Given the description of an element on the screen output the (x, y) to click on. 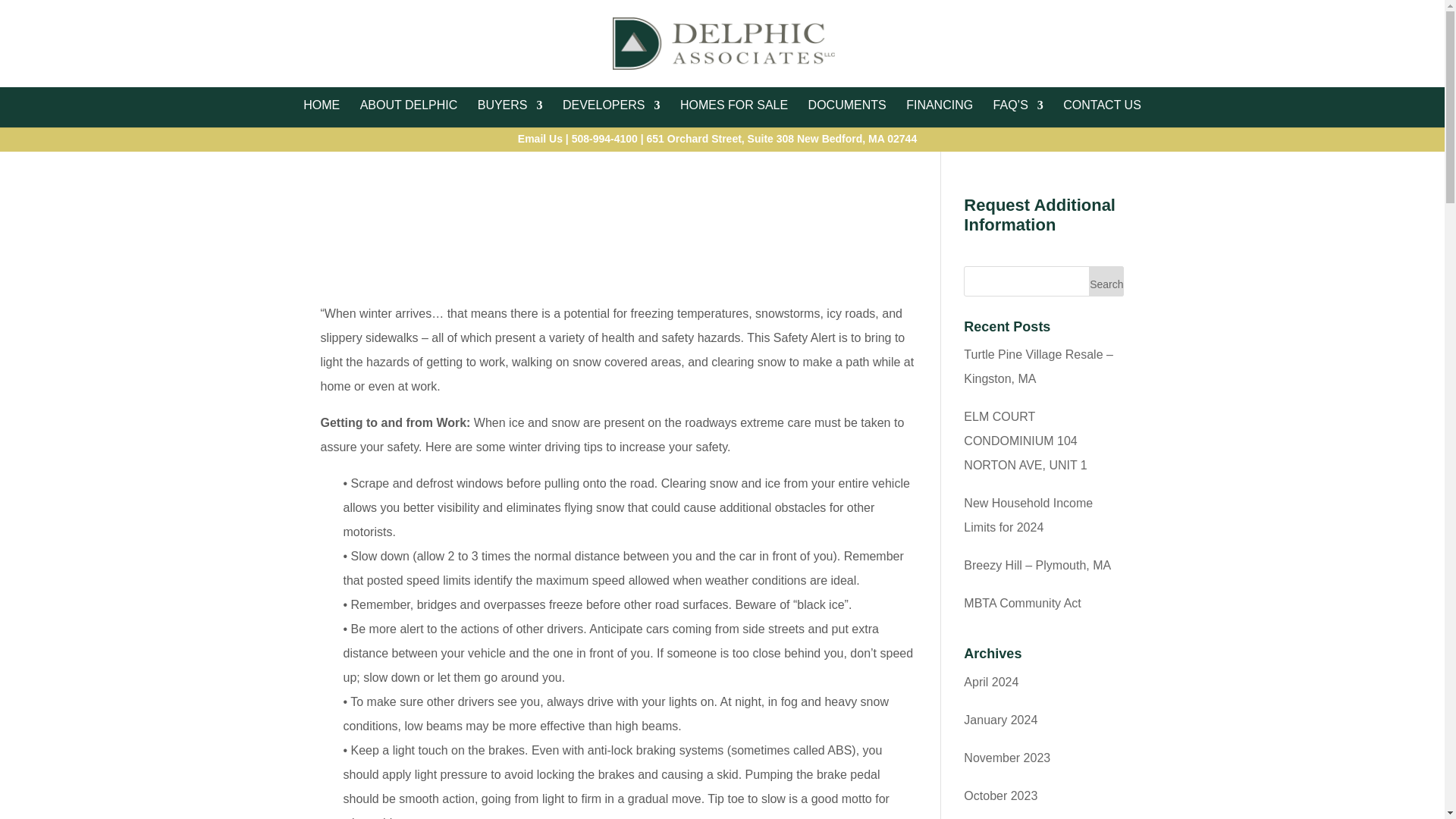
BUYERS (510, 104)
FINANCING (938, 104)
MBTA Community Act (1021, 603)
Search (1106, 281)
HOMES FOR SALE (733, 104)
April 2024 (990, 681)
DOCUMENTS (847, 104)
Search (1106, 281)
New Household Income Limits for 2024 (1028, 514)
ABOUT DELPHIC (408, 104)
ELM COURT CONDOMINIUM 104 NORTON AVE, UNIT 1 (1024, 440)
CONTACT US (1101, 104)
Email Us (540, 137)
DEVELOPERS (610, 104)
HOME (320, 104)
